Given the description of an element on the screen output the (x, y) to click on. 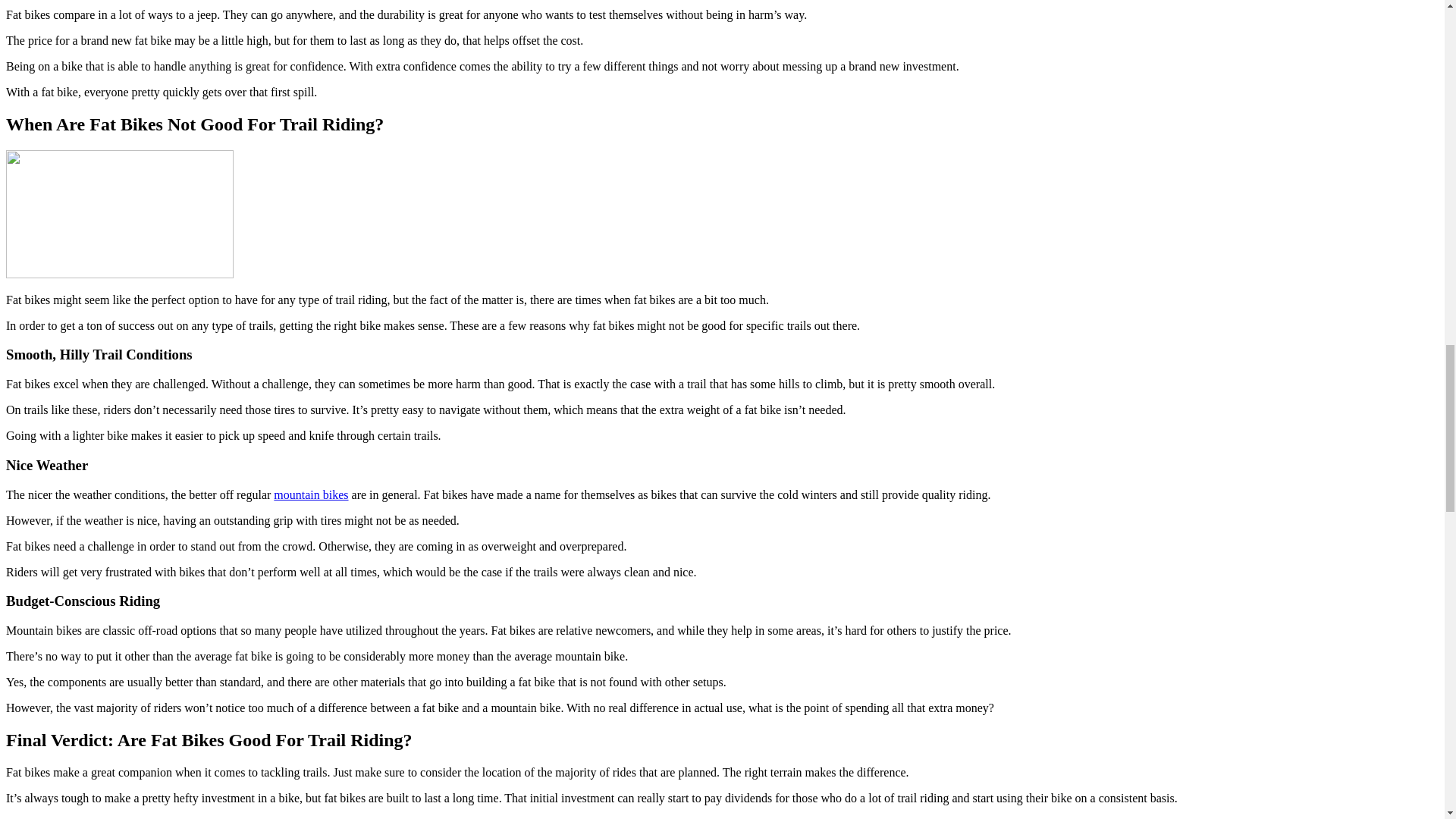
mountain bikes (310, 494)
